Given the description of an element on the screen output the (x, y) to click on. 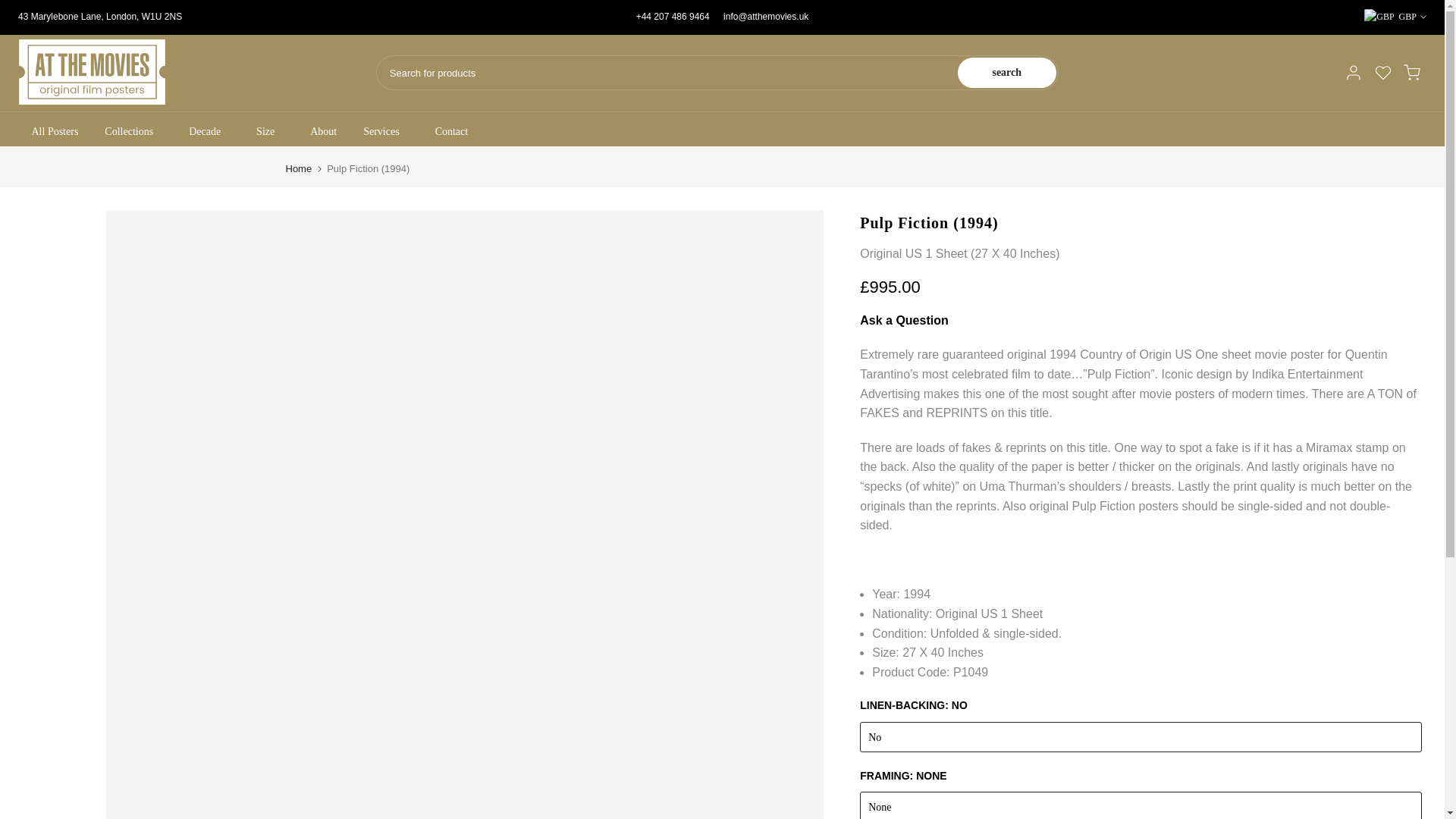
Home (298, 168)
Ask a Question (903, 319)
No (1141, 736)
Decade (209, 131)
About (323, 131)
All Posters (54, 131)
Skip to content (10, 7)
Collections (133, 131)
Contact (451, 131)
Size (270, 131)
